Given the description of an element on the screen output the (x, y) to click on. 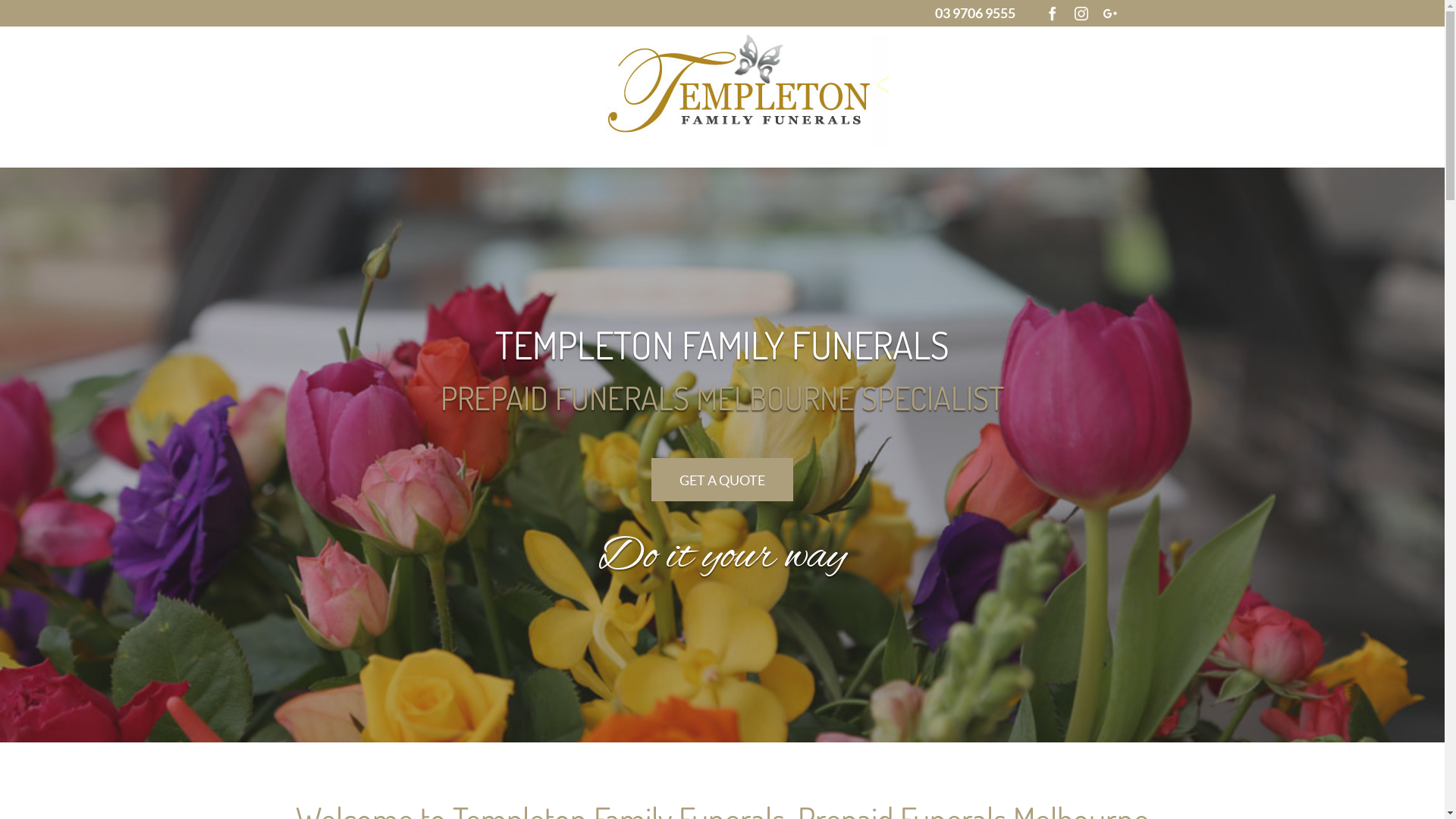
03 9706 9555 Element type: text (975, 12)
Melbourne PrePaid Funerals Element type: hover (740, 90)
GET A QUOTE Element type: text (722, 479)
